Given the description of an element on the screen output the (x, y) to click on. 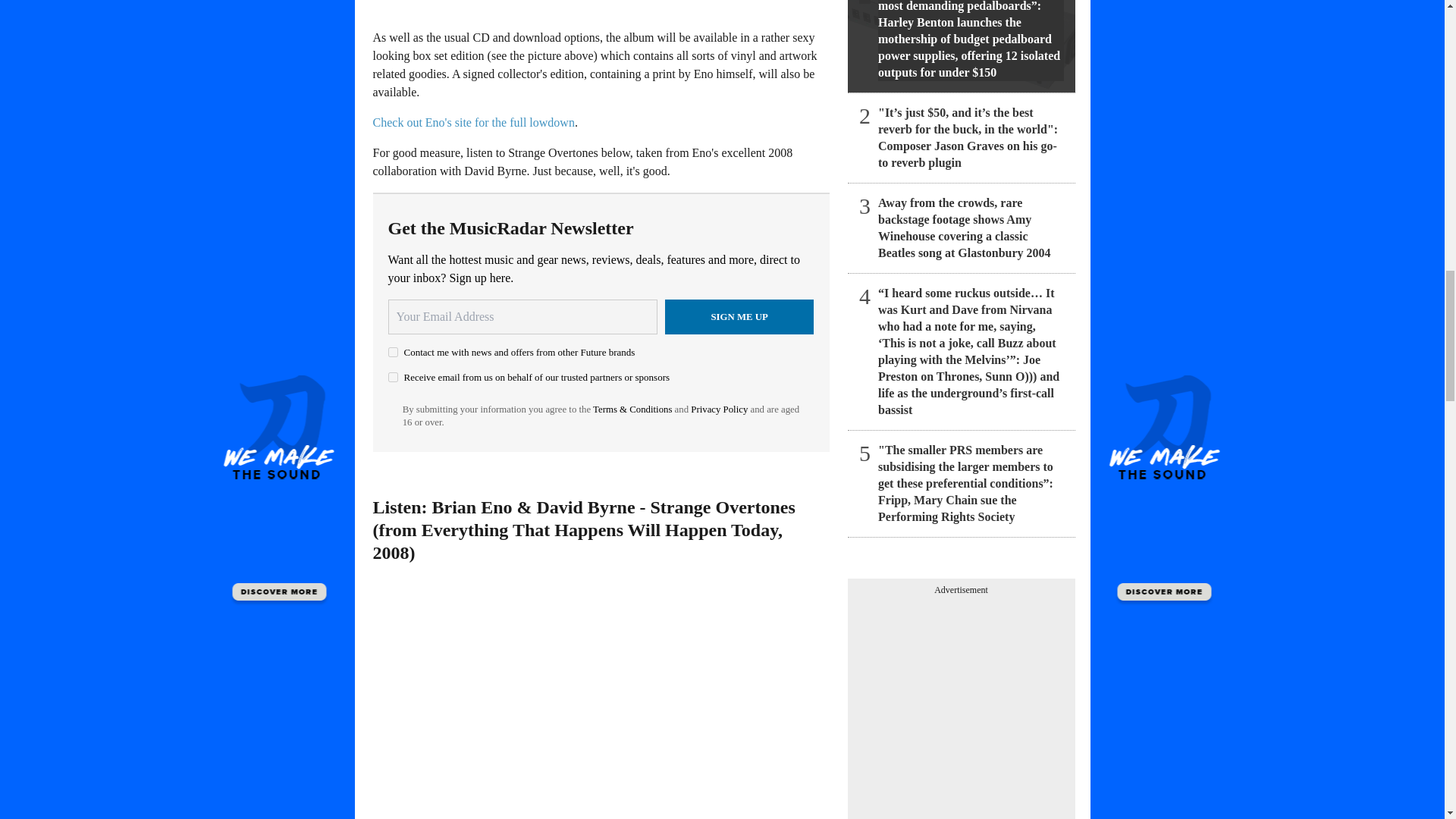
on (392, 377)
on (392, 352)
Sign me up (739, 316)
